Given the description of an element on the screen output the (x, y) to click on. 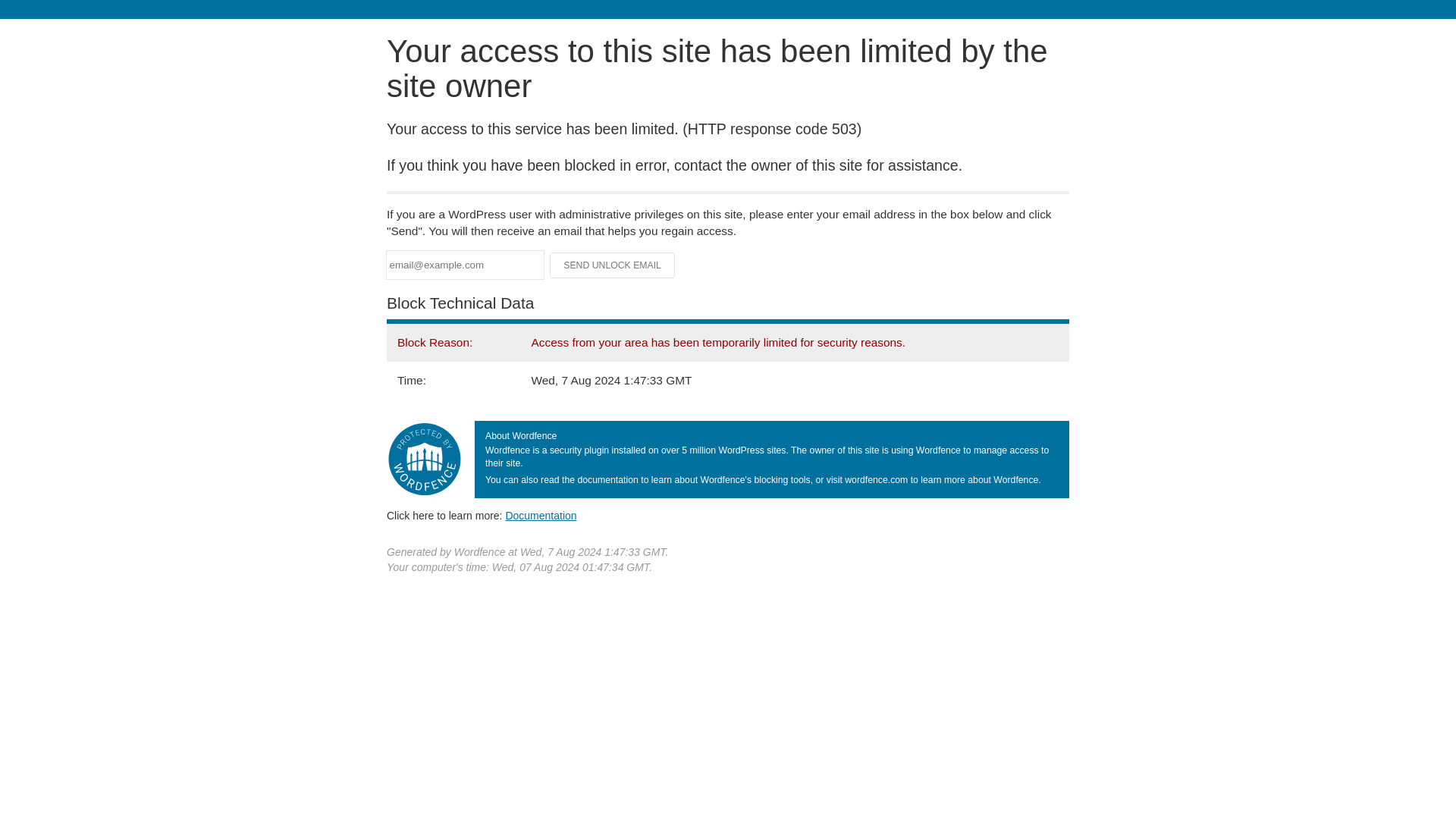
Documentation (540, 515)
Send Unlock Email (612, 265)
Send Unlock Email (612, 265)
